Given the description of an element on the screen output the (x, y) to click on. 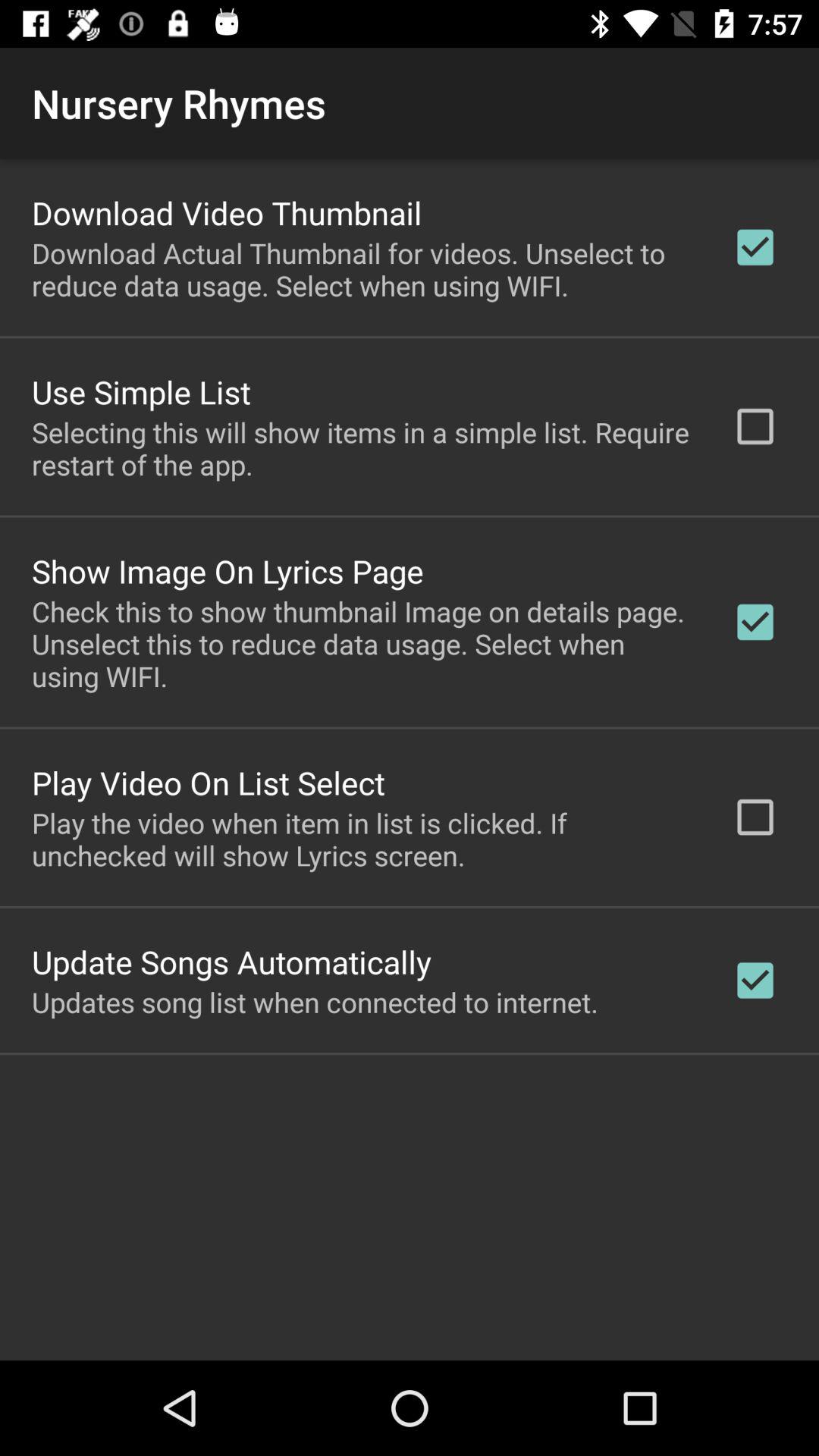
open the item above play video on app (361, 643)
